Given the description of an element on the screen output the (x, y) to click on. 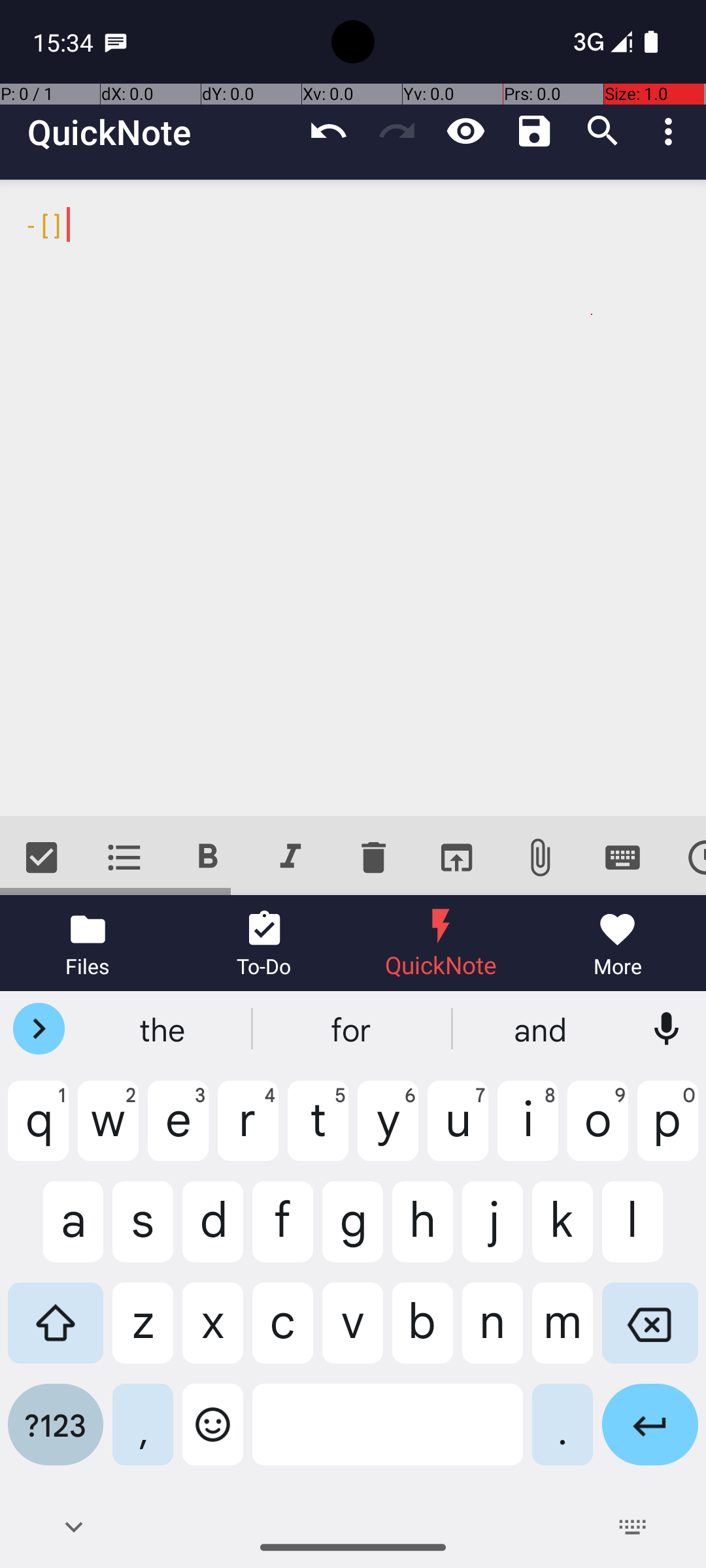
- [ ]  Element type: android.widget.EditText (353, 497)
the Element type: android.widget.FrameLayout (163, 1028)
for Element type: android.widget.FrameLayout (352, 1028)
